Given the description of an element on the screen output the (x, y) to click on. 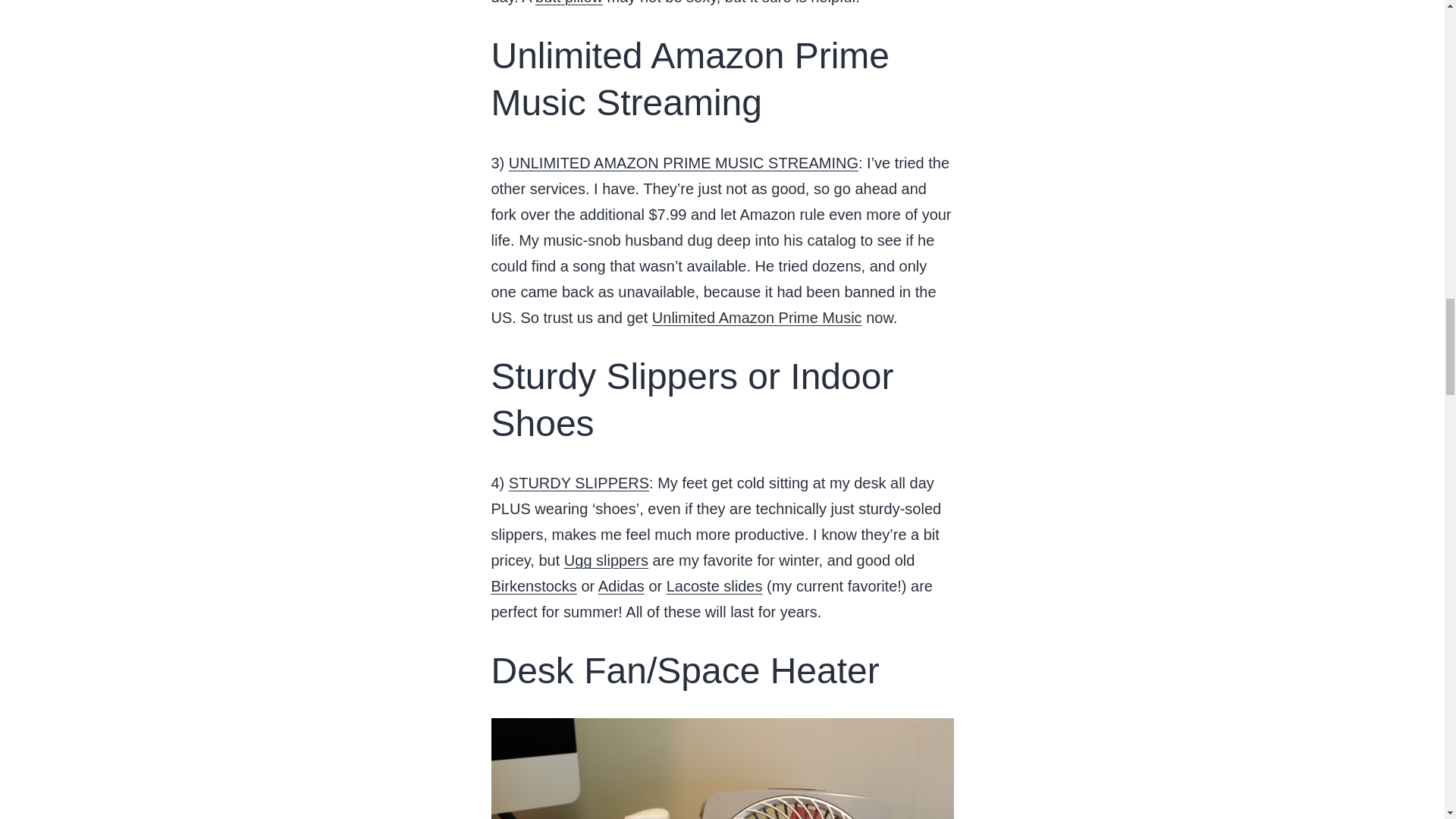
UNLIMITED AMAZON PRIME MUSIC STREAMING (683, 162)
Birkenstocks (534, 586)
Adidas (621, 586)
butt pillow (568, 2)
Lacoste slides (714, 586)
STURDY SLIPPERS (578, 483)
Ugg slippers (605, 560)
Unlimited Amazon Prime Music (756, 317)
